Given the description of an element on the screen output the (x, y) to click on. 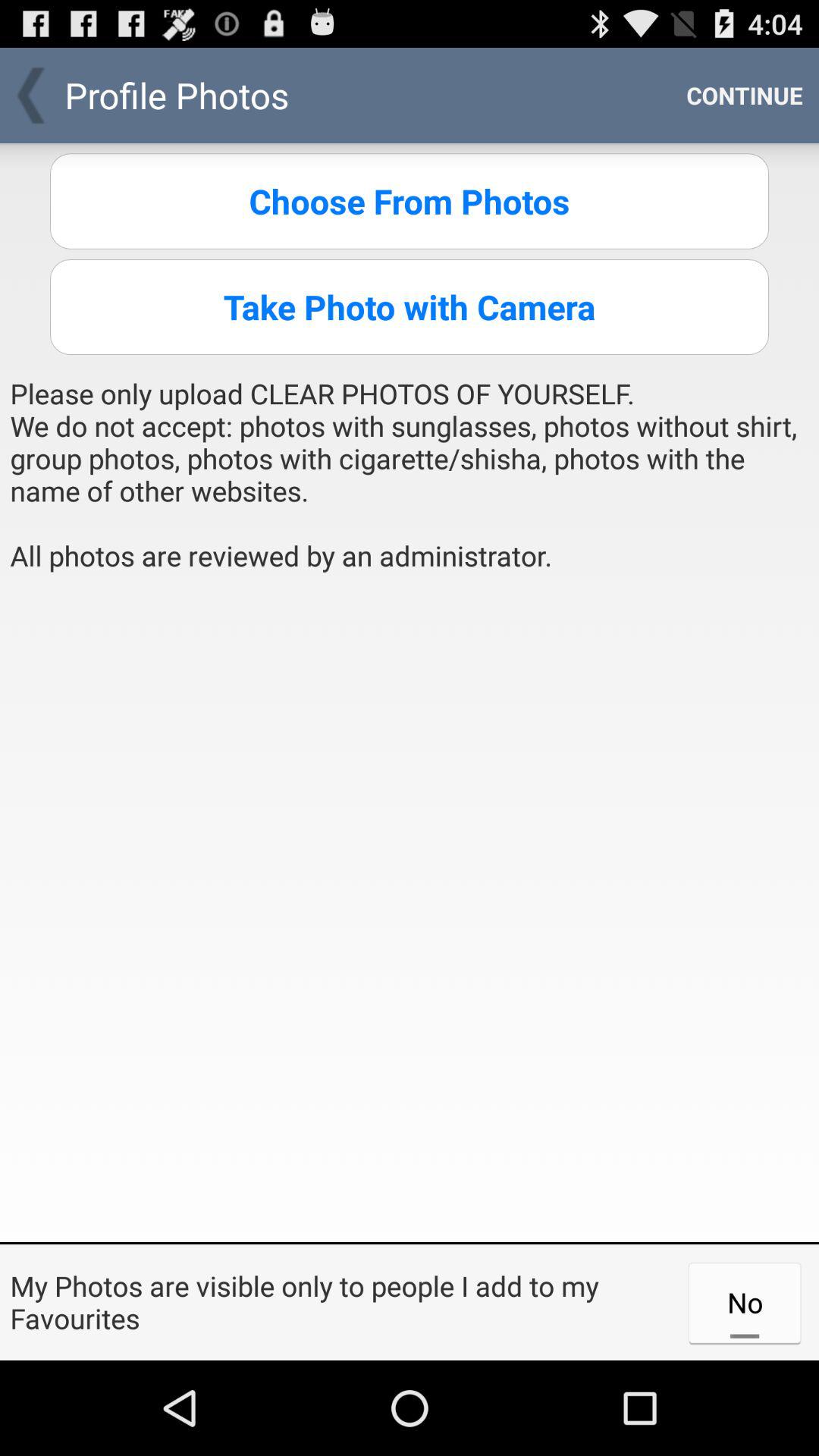
turn on the app next to my photos are (744, 1302)
